Given the description of an element on the screen output the (x, y) to click on. 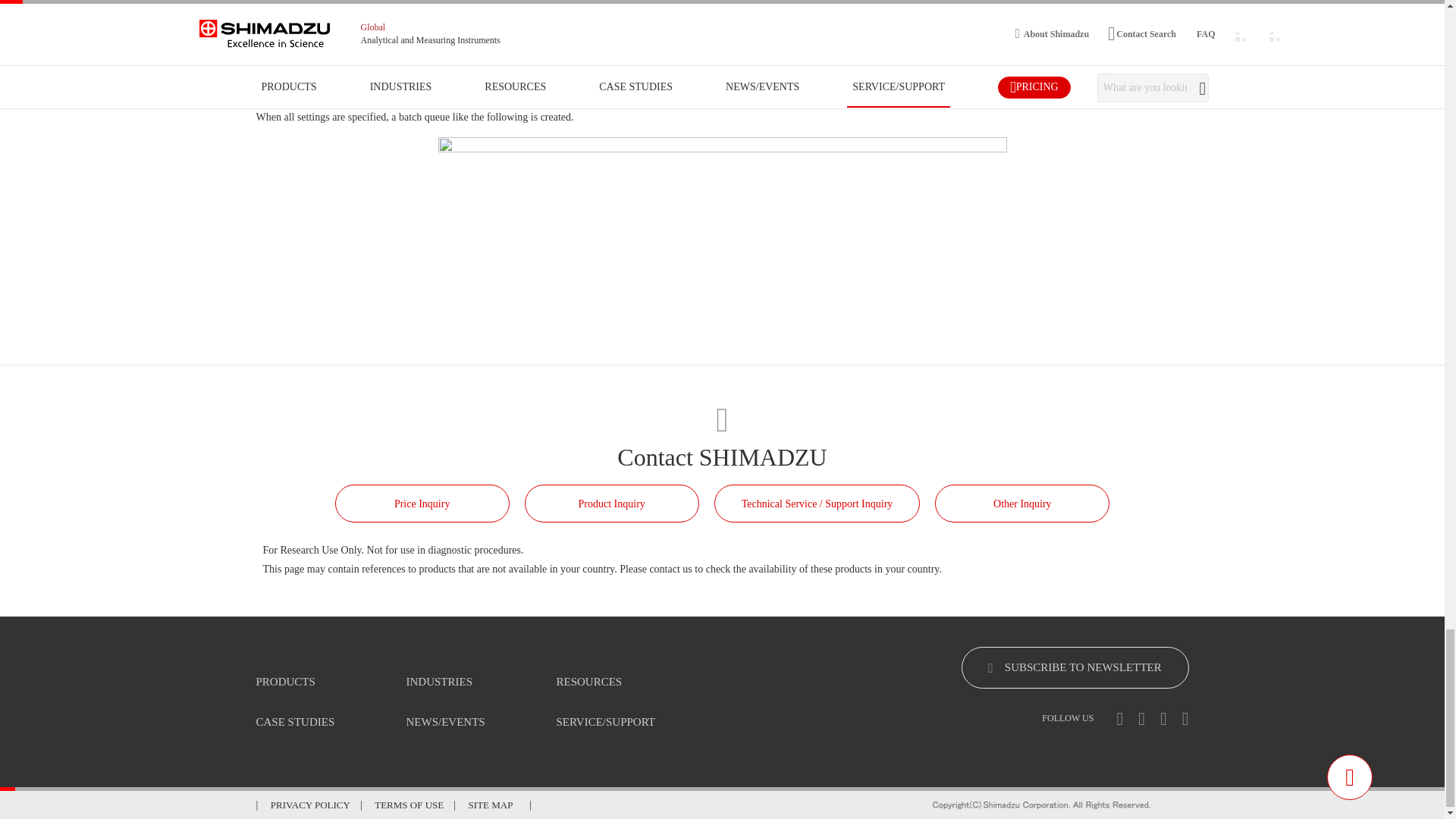
PRODUCTS (285, 681)
Product Inquiry (611, 503)
INDUSTRIES (439, 681)
Price Inquiry (421, 503)
Other Inquiry (1021, 503)
